Given the description of an element on the screen output the (x, y) to click on. 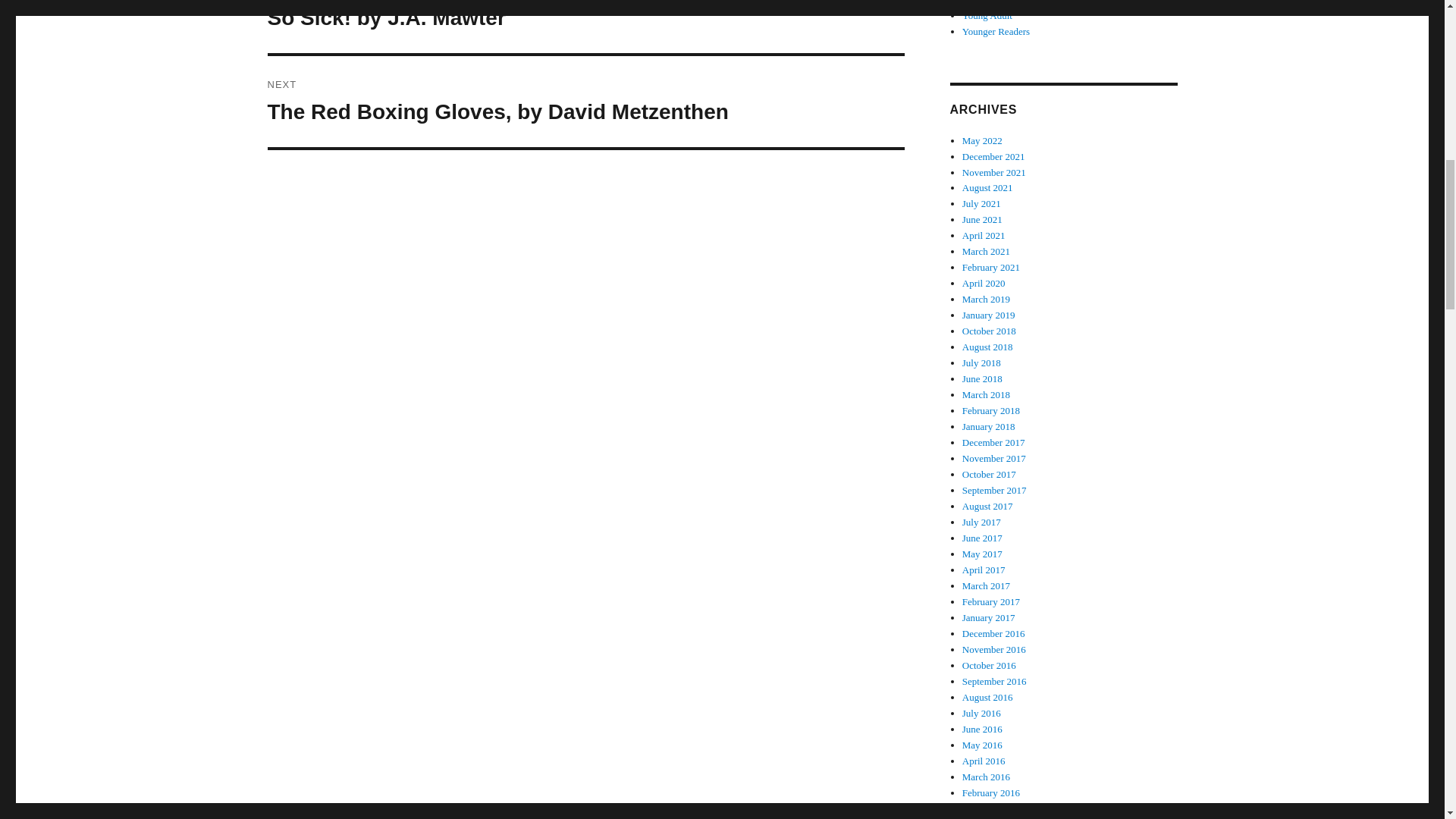
December 2021 (585, 101)
February 2021 (993, 156)
March 2021 (991, 266)
April 2020 (986, 251)
June 2021 (984, 283)
Uncategorised (982, 219)
August 2021 (990, 2)
Younger Readers (987, 187)
July 2021 (995, 30)
January 2019 (981, 203)
Young Adult (988, 315)
March 2019 (986, 15)
November 2021 (986, 298)
